Given the description of an element on the screen output the (x, y) to click on. 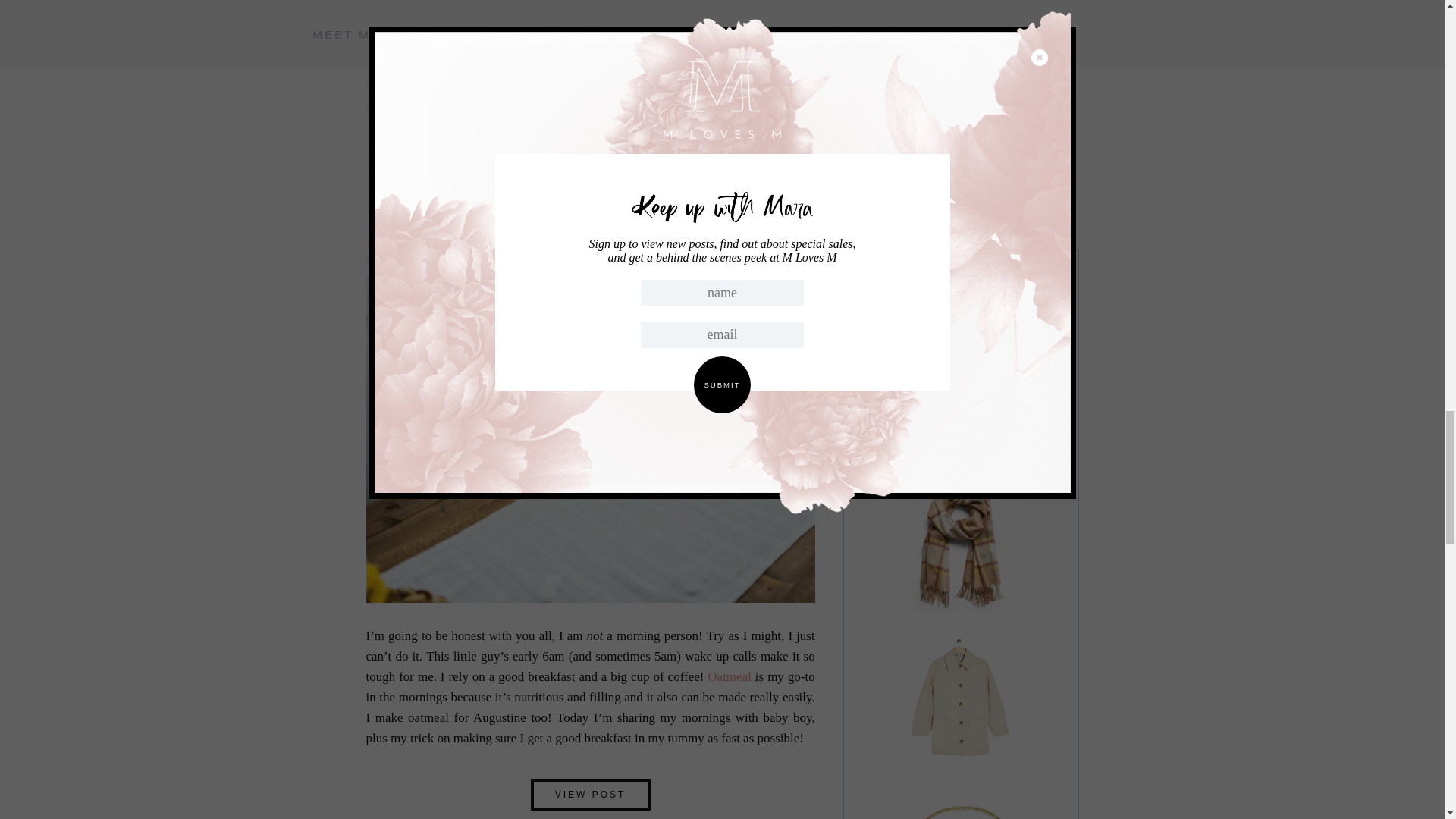
Subscribe (960, 187)
